Given the description of an element on the screen output the (x, y) to click on. 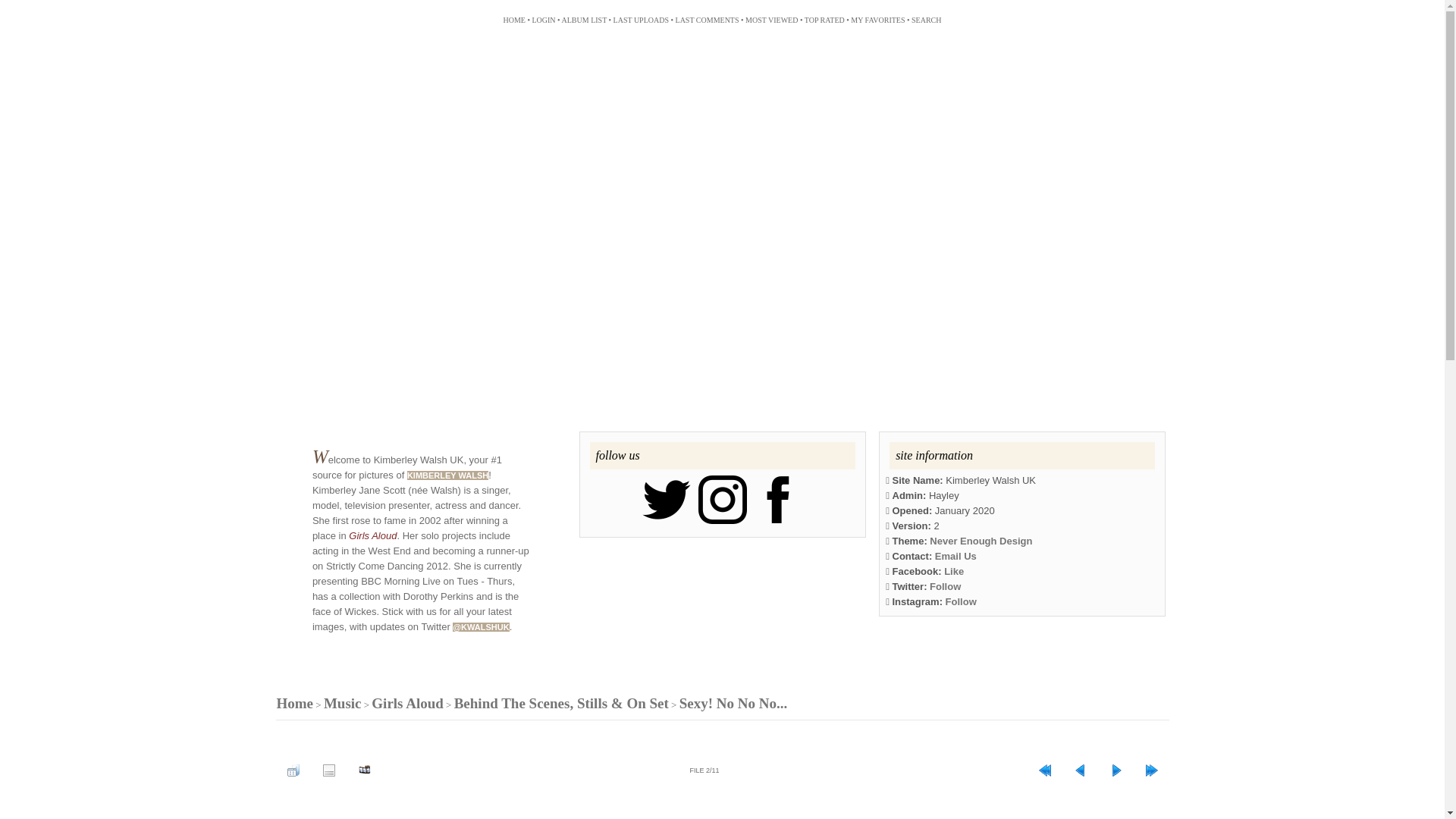
Log me in (542, 19)
See previous file (1079, 770)
ALBUM LIST (584, 19)
Email Us (955, 555)
Home (294, 703)
Go to the home page (513, 19)
Go to the album list (584, 19)
TOP RATED (824, 19)
Slideshow (363, 770)
Show most recent uploads (640, 19)
Show top rated items (824, 19)
SEARCH (925, 19)
Never Enough Design (981, 541)
Sexy! No No No... (733, 703)
Return to start (1044, 770)
